Given the description of an element on the screen output the (x, y) to click on. 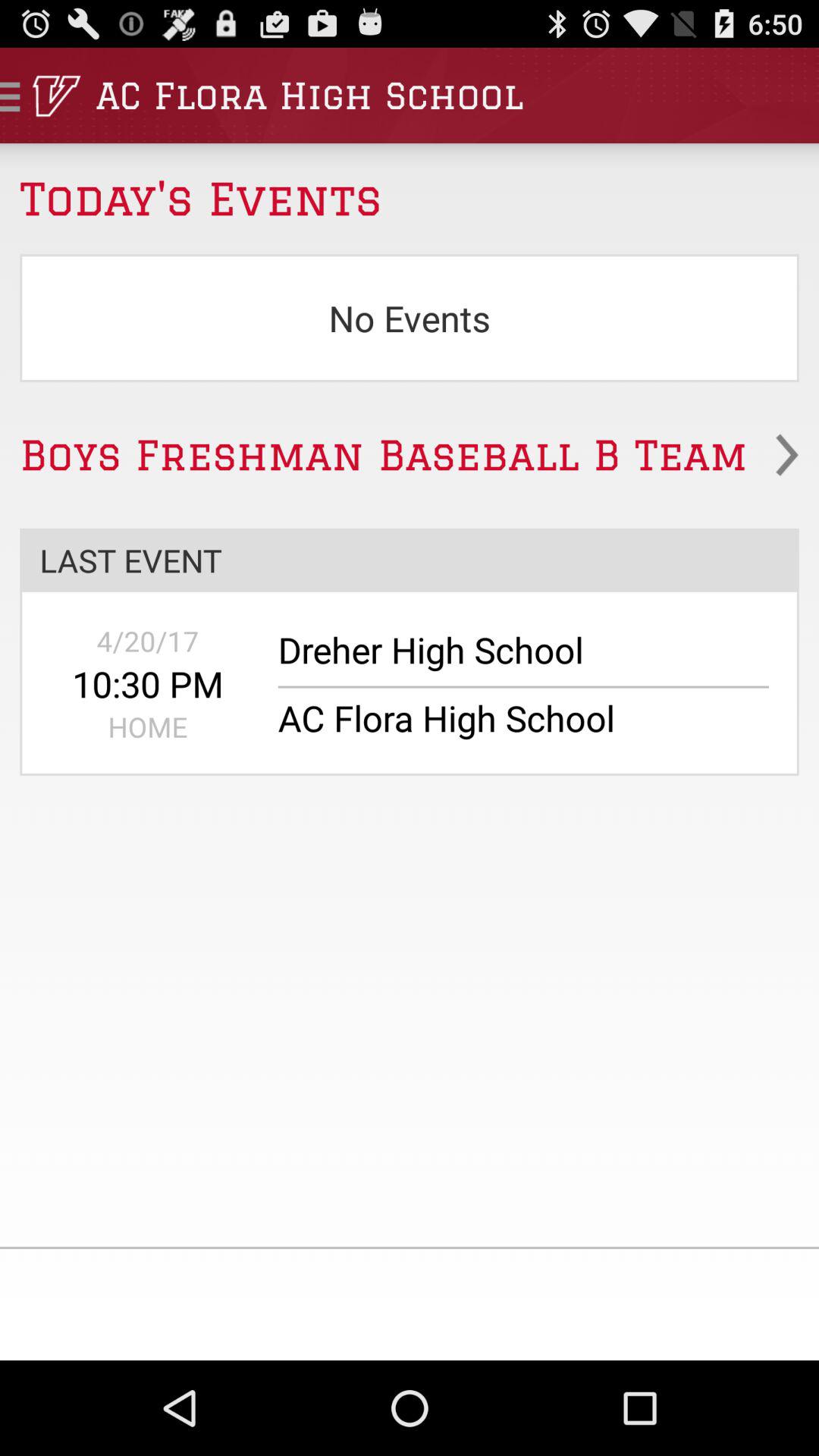
turn on the 10:30 pm item (147, 683)
